Given the description of an element on the screen output the (x, y) to click on. 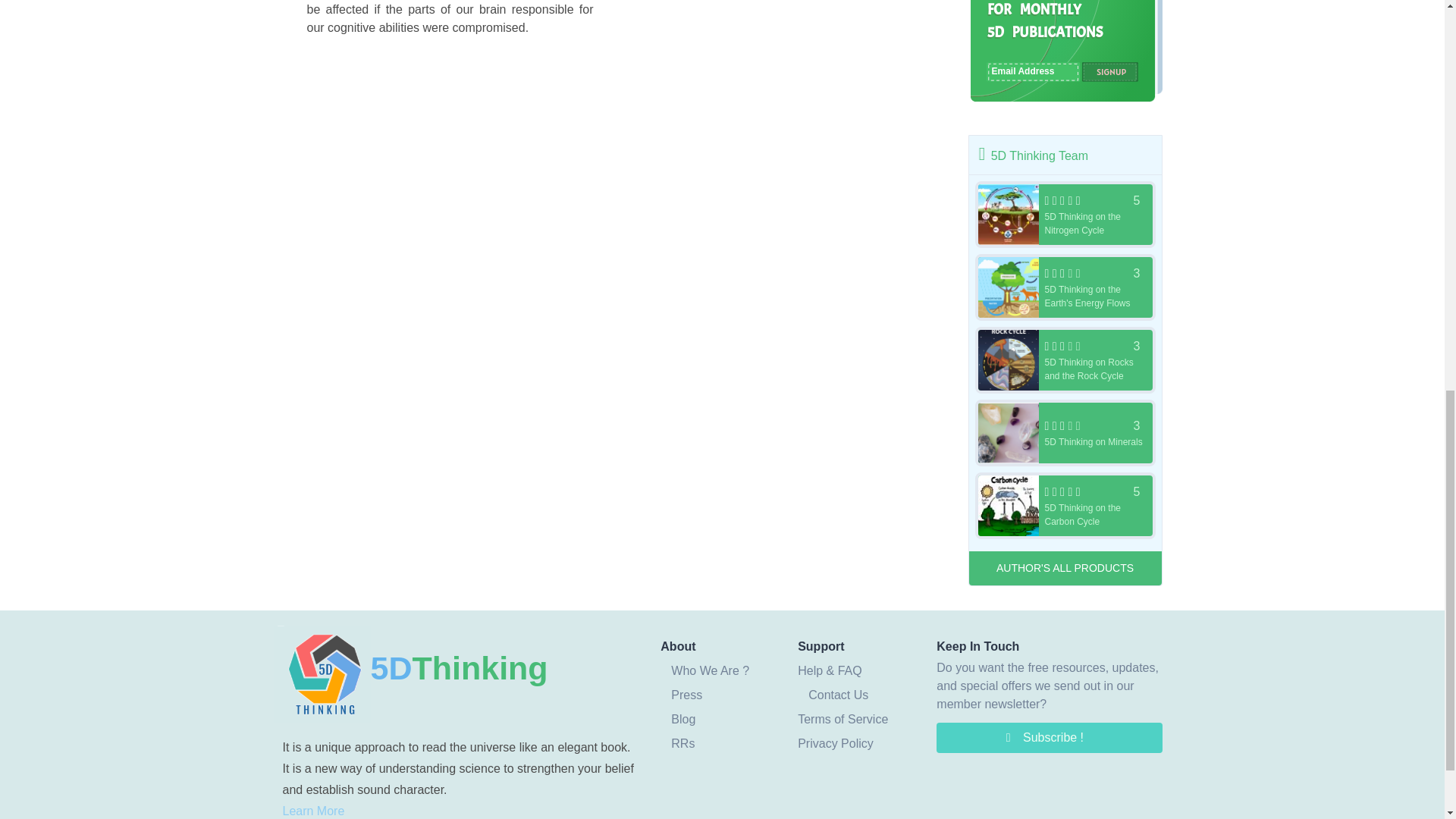
5D Thinking Team (1065, 432)
